Given the description of an element on the screen output the (x, y) to click on. 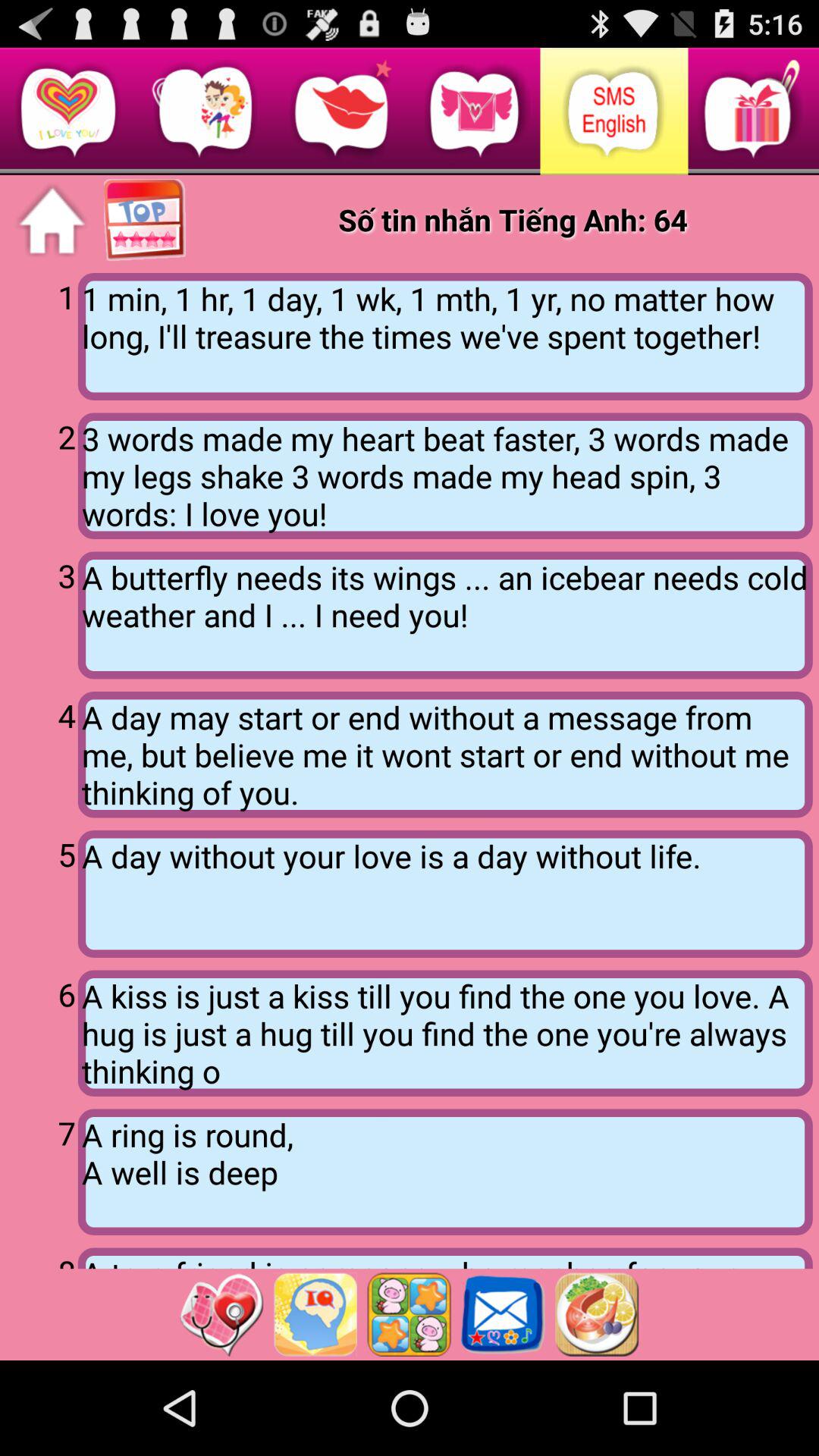
go home (51, 220)
